Given the description of an element on the screen output the (x, y) to click on. 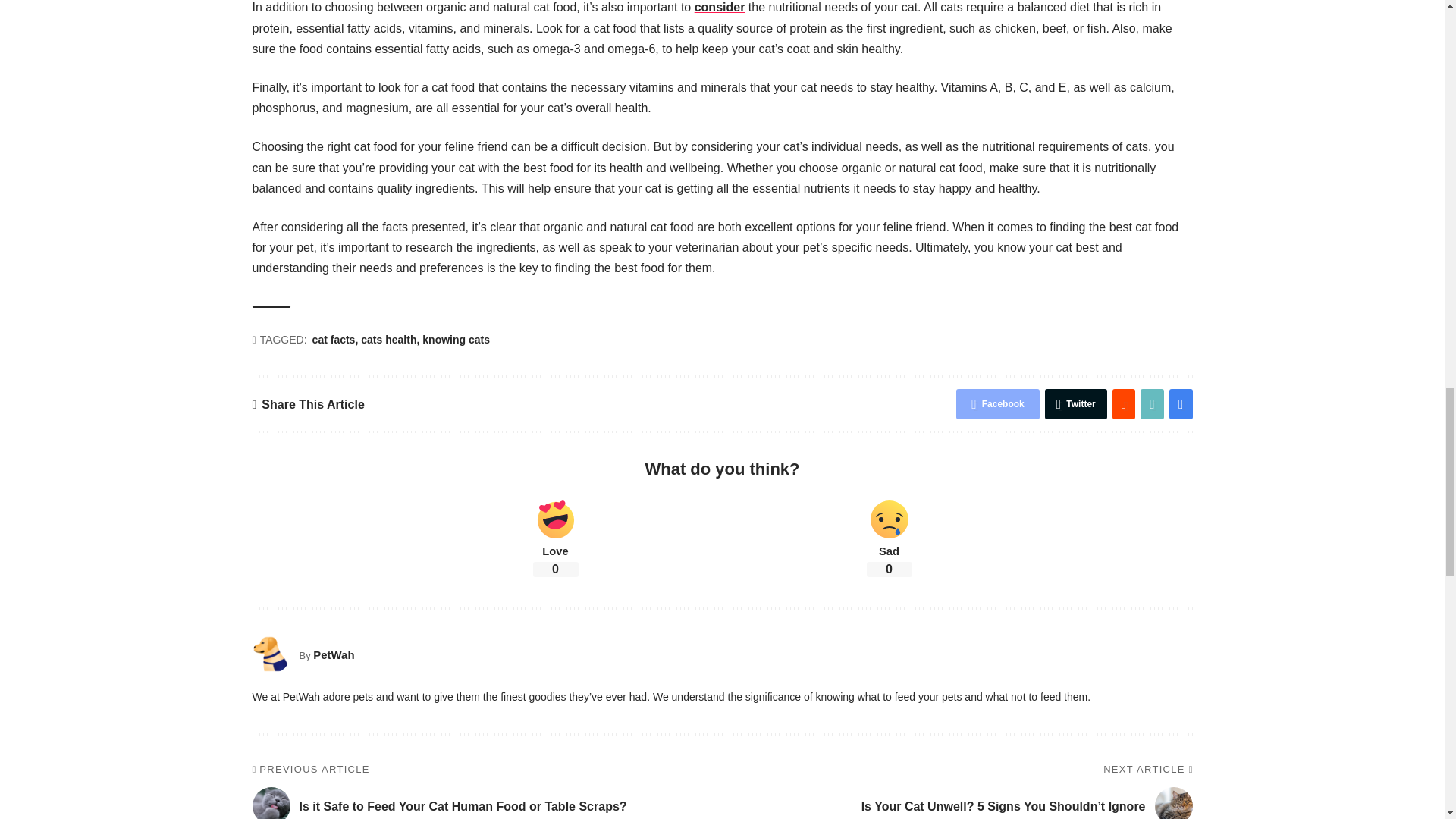
Is Your Cat Unwell? 5 Signs You Shouldn't Ignore 4 (1173, 803)
Is it Safe to Feed Your Cat Human Food or Table Scraps? 3 (270, 803)
